Given the description of an element on the screen output the (x, y) to click on. 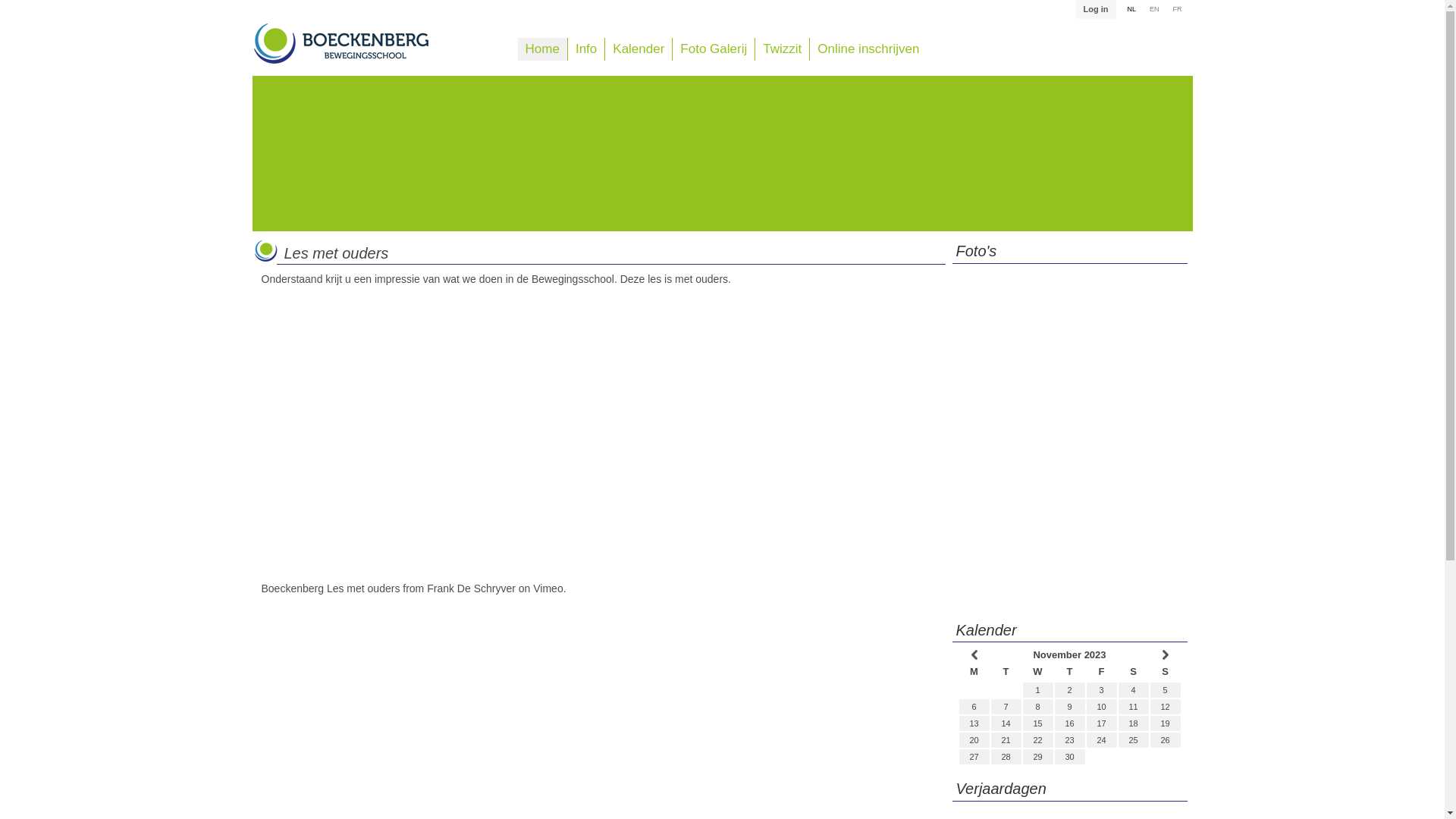
Boeckenberg Les met ouders Element type: text (329, 588)
Twizzit Element type: text (781, 48)
Home Element type: text (542, 48)
FR Element type: text (1177, 9)
Info Element type: text (585, 48)
  Element type: text (1164, 654)
Log in Element type: text (1096, 9)
  Element type: text (973, 654)
EN Element type: text (1154, 9)
Frank De Schryver Element type: text (470, 588)
Kalender Element type: text (638, 48)
Vimeo Element type: text (547, 588)
Foto Galerij Element type: text (713, 48)
Les met ouders Element type: text (335, 252)
NL Element type: text (1131, 9)
